Given the description of an element on the screen output the (x, y) to click on. 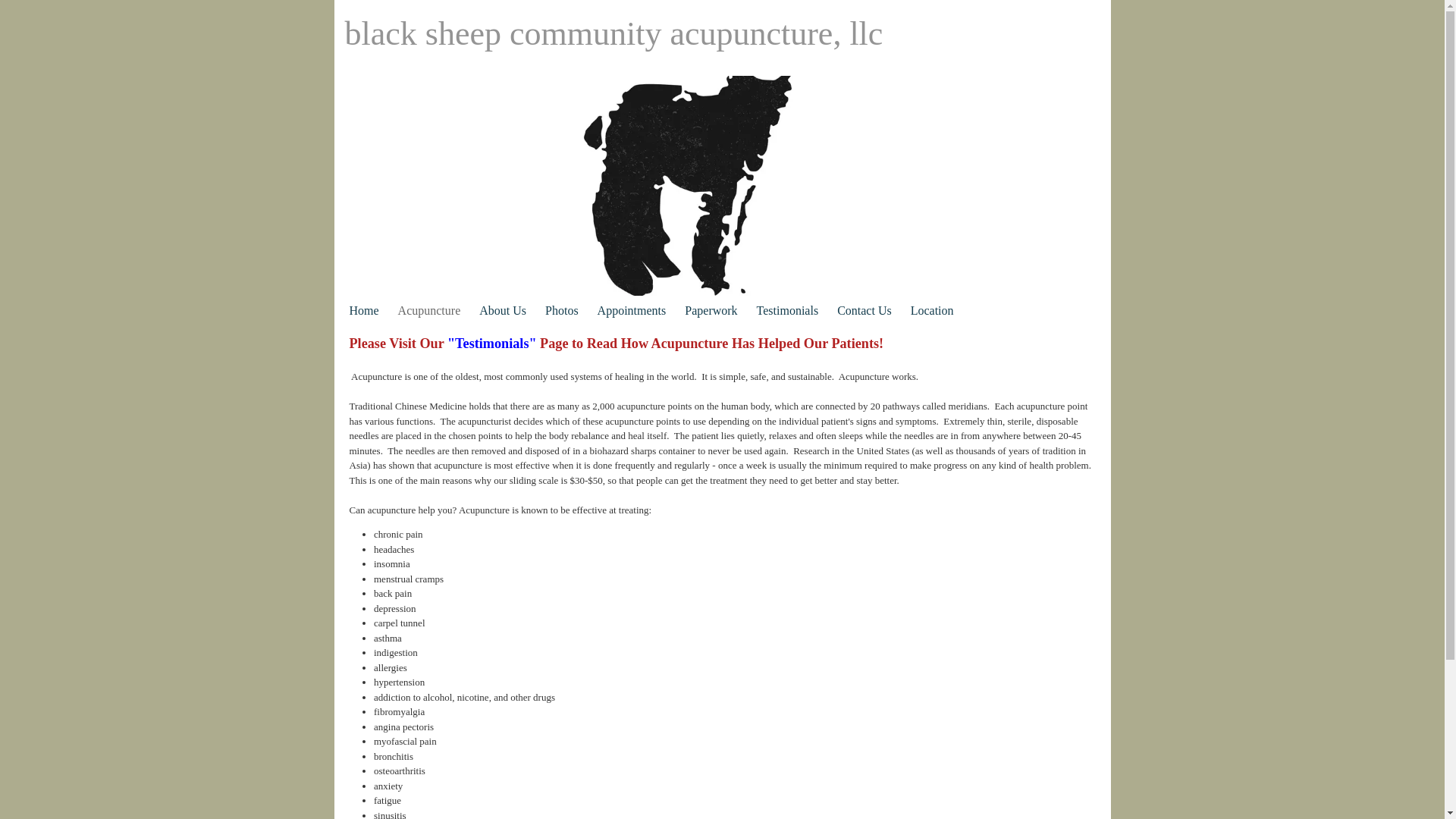
About Us (502, 310)
Photos (561, 310)
Acupuncture (429, 310)
Appointments (631, 310)
black sheep community acupuncture, llc (622, 37)
Home (363, 310)
Testimonials (787, 310)
Contact Us (864, 310)
"Testimonials" (491, 343)
Location (932, 310)
Paperwork (710, 310)
